Given the description of an element on the screen output the (x, y) to click on. 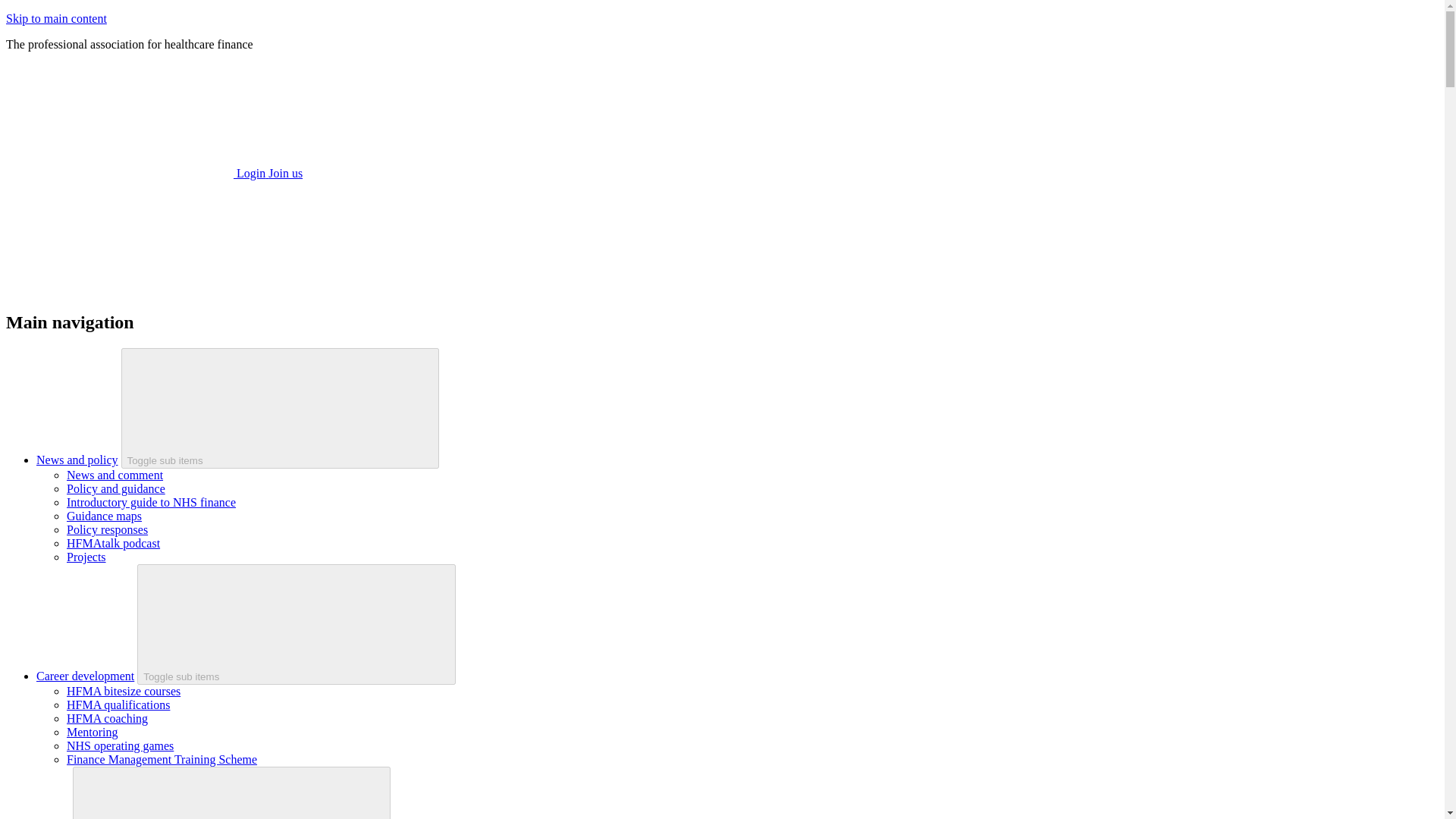
News and comment (114, 474)
HFMA coaching (107, 717)
Projects (86, 556)
Join us (284, 173)
Mentoring (91, 731)
HFMA bitesize courses (123, 690)
NHS operating games (119, 745)
HFMA qualifications (118, 704)
Career development (84, 675)
Finance Management Training Scheme (161, 758)
Policy responses (107, 529)
News and policy (76, 459)
Introductory guide to NHS finance (150, 502)
Toggle sub items (295, 624)
Toggle sub items (279, 408)
